Given the description of an element on the screen output the (x, y) to click on. 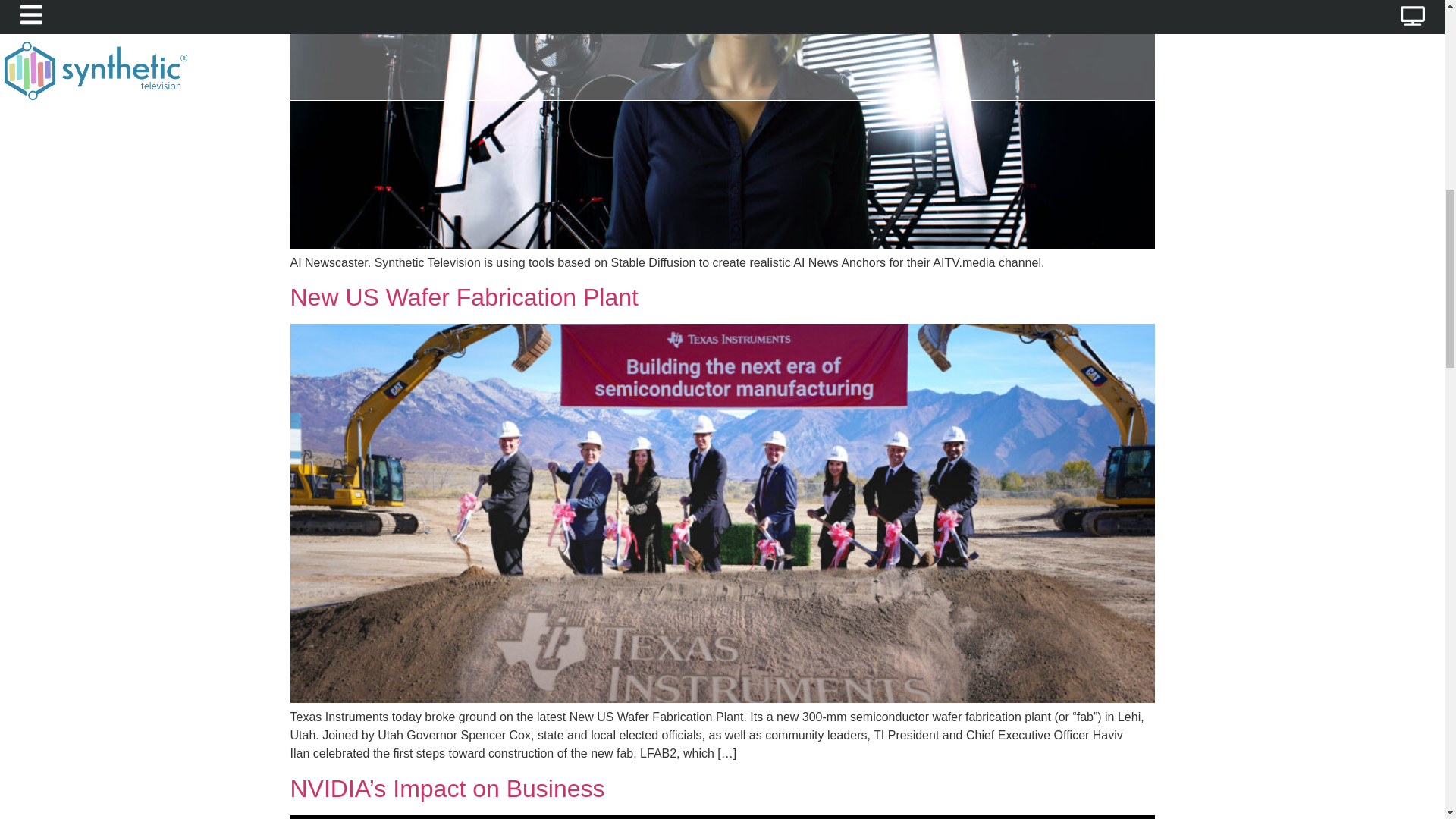
New US Wafer Fabrication Plant (463, 297)
